Given the description of an element on the screen output the (x, y) to click on. 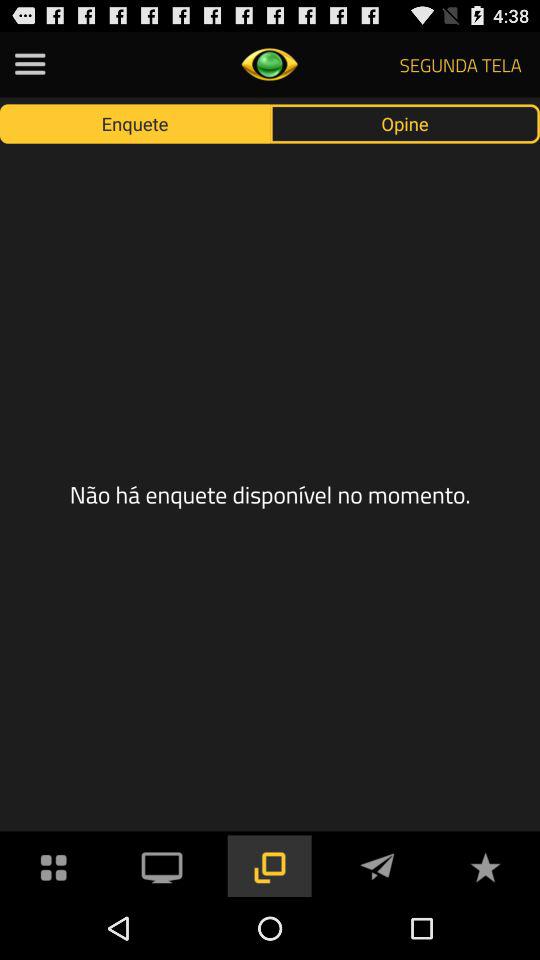
opens video section (162, 865)
